Given the description of an element on the screen output the (x, y) to click on. 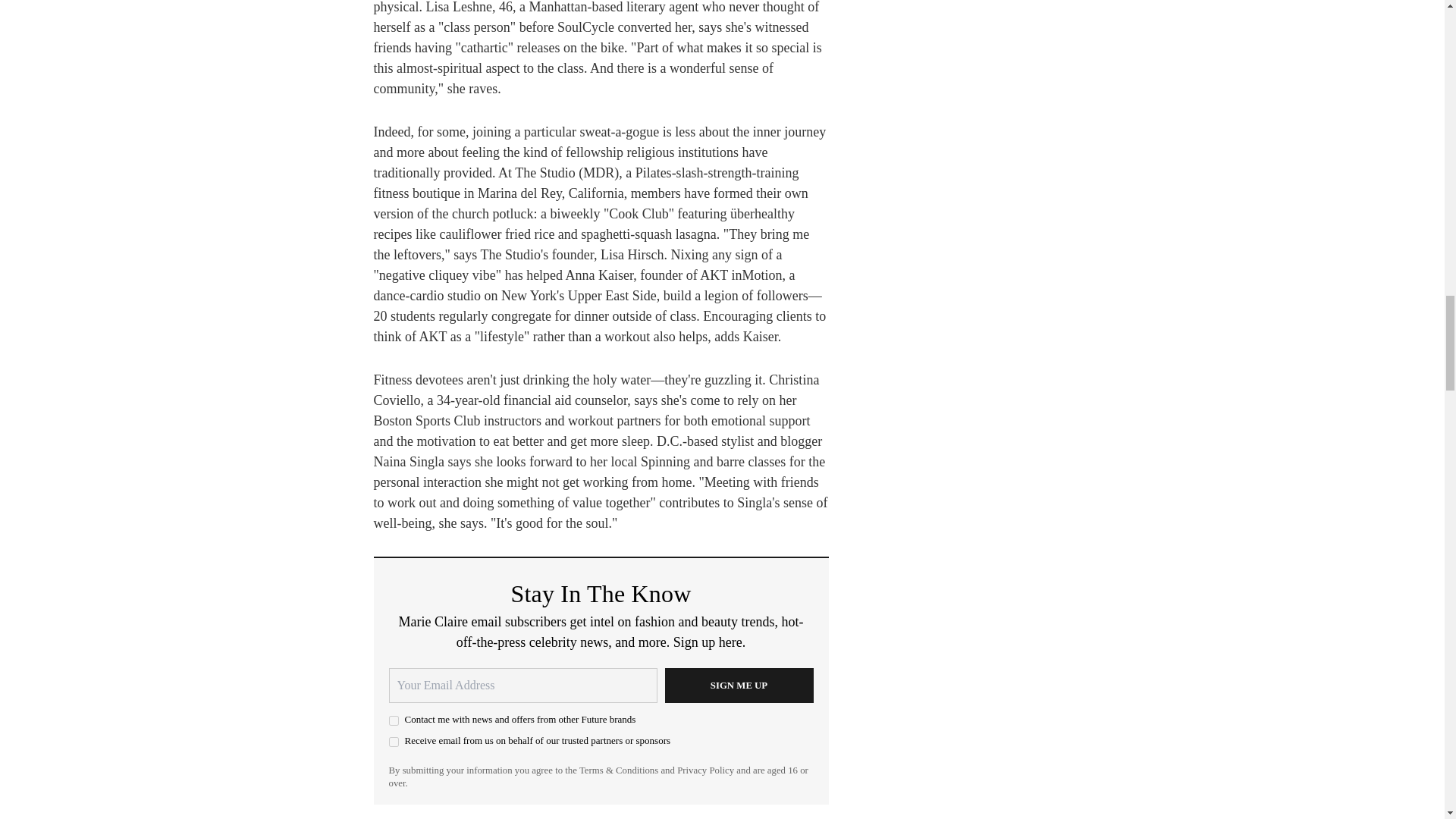
on (392, 720)
on (392, 741)
Sign me up (737, 685)
